Given the description of an element on the screen output the (x, y) to click on. 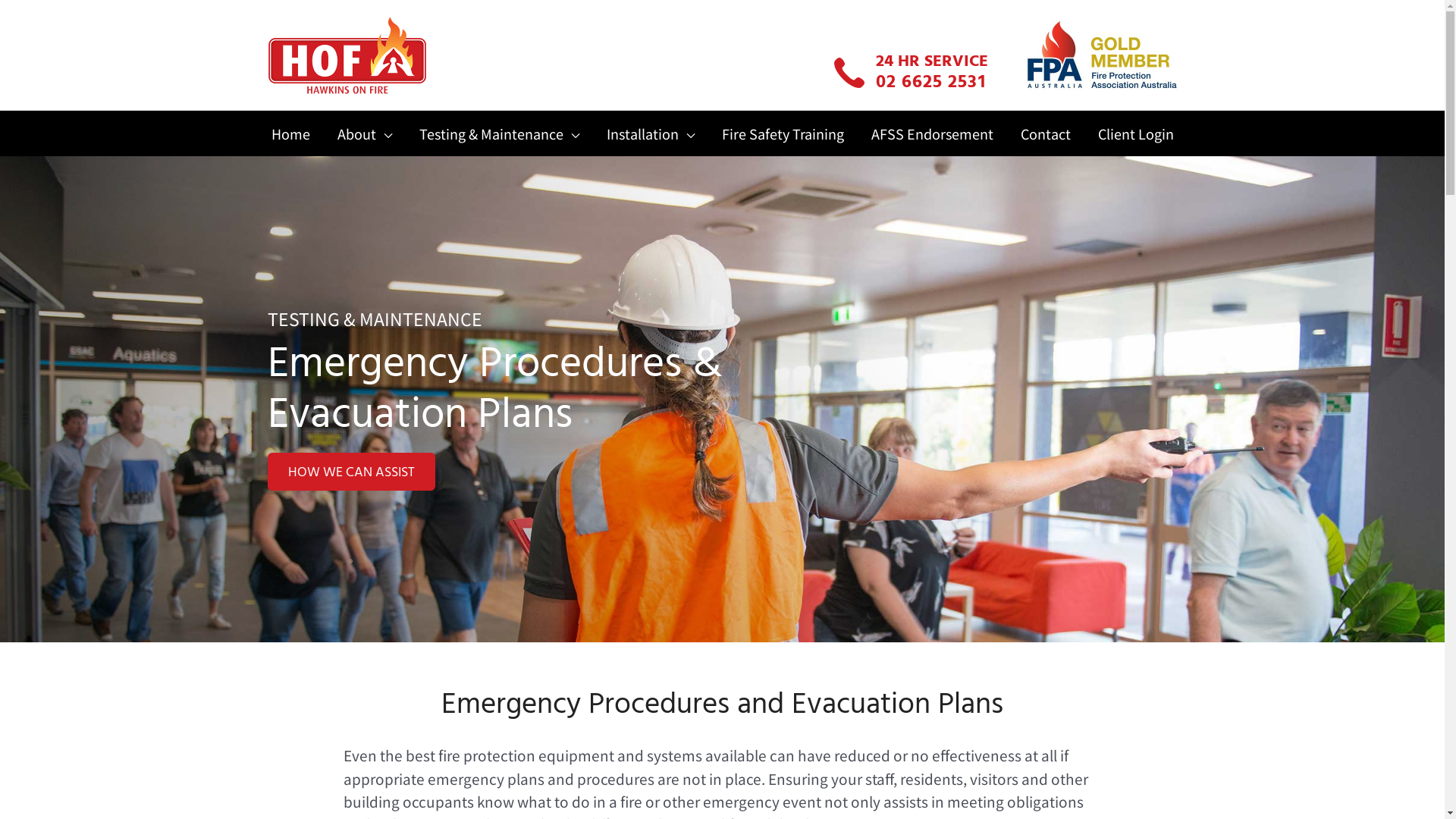
HOW WE CAN ASSIST Element type: text (350, 470)
Client Login Element type: text (1128, 133)
Testing & Maintenance Element type: text (498, 133)
Home Element type: text (297, 133)
Installation Element type: text (650, 133)
About Element type: text (363, 133)
AFSS Endorsement Element type: text (931, 133)
Fire Safety Training Element type: text (782, 133)
Contact Element type: text (1045, 133)
24 HR SERVICE

02 6625 2531 Element type: text (931, 73)
